Given the description of an element on the screen output the (x, y) to click on. 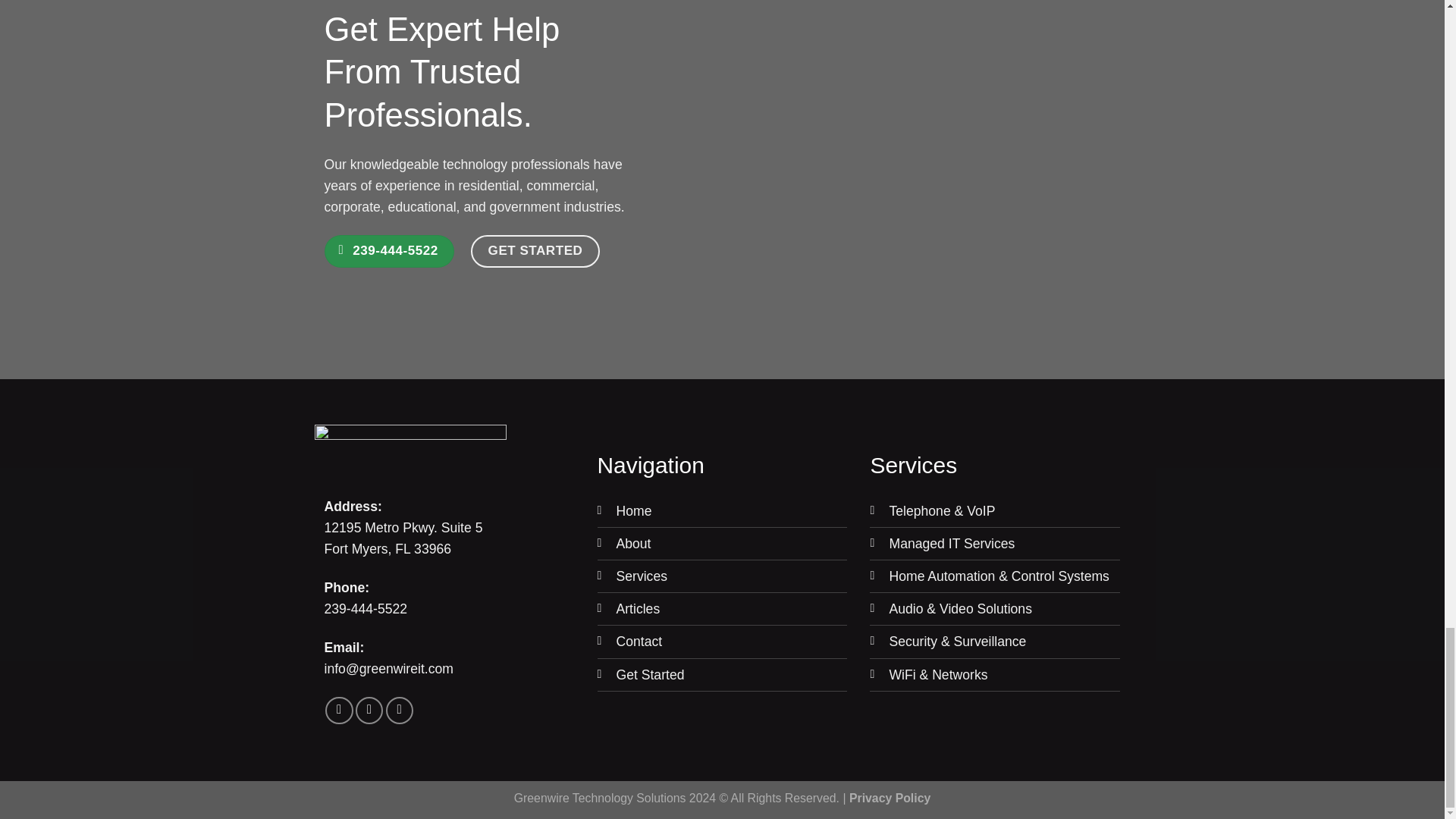
Follow on Facebook (338, 709)
Follow on Twitter (368, 709)
239-444-5522 (389, 251)
GET STARTED (534, 251)
Contact (638, 641)
Services (640, 575)
Get Started (649, 674)
Managed IT Services (951, 543)
Home (632, 510)
Follow on LinkedIn (399, 709)
239-444-5522 (365, 608)
About (632, 543)
Articles (637, 608)
